Given the description of an element on the screen output the (x, y) to click on. 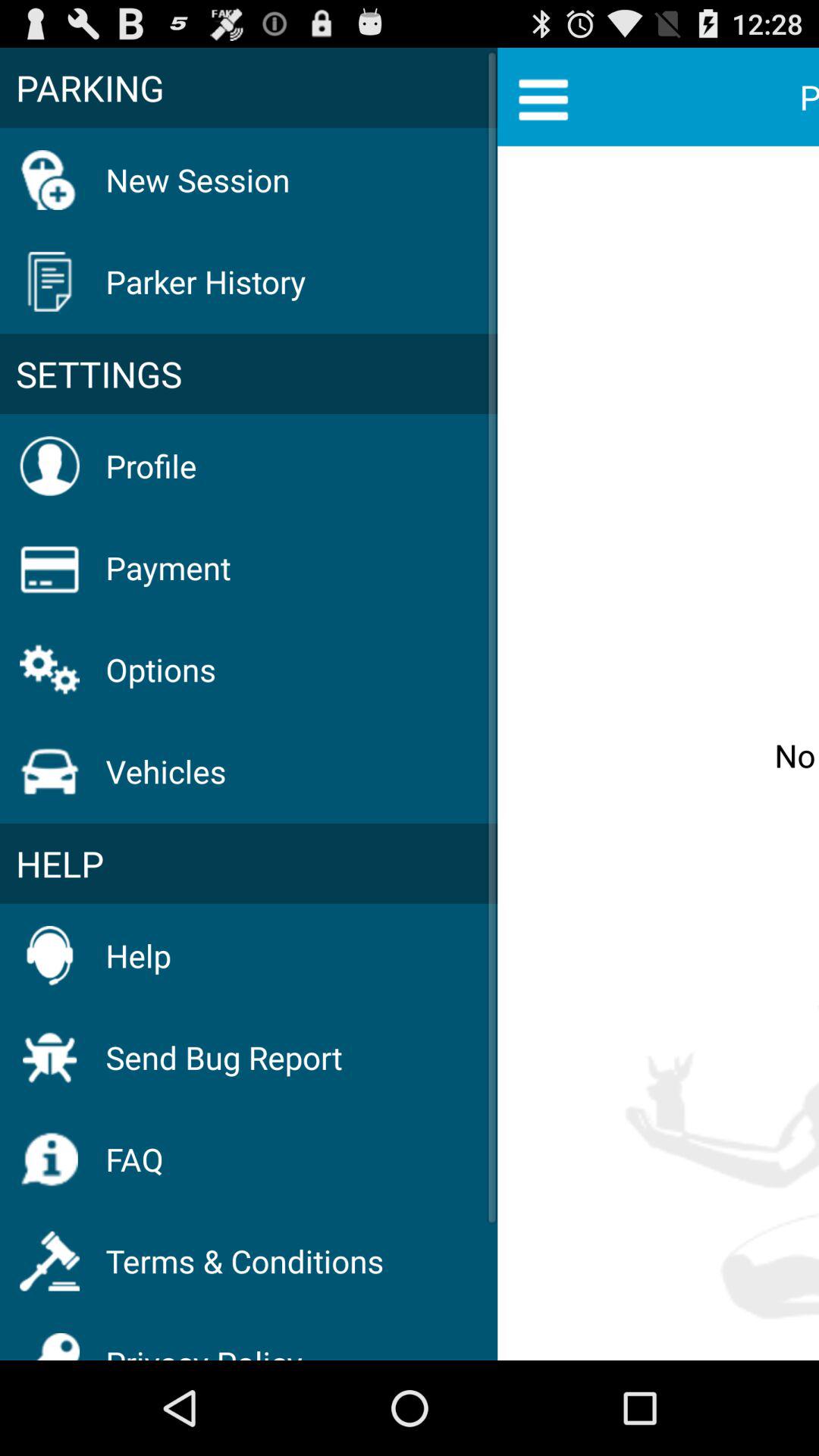
tap the item above profile (248, 373)
